Given the description of an element on the screen output the (x, y) to click on. 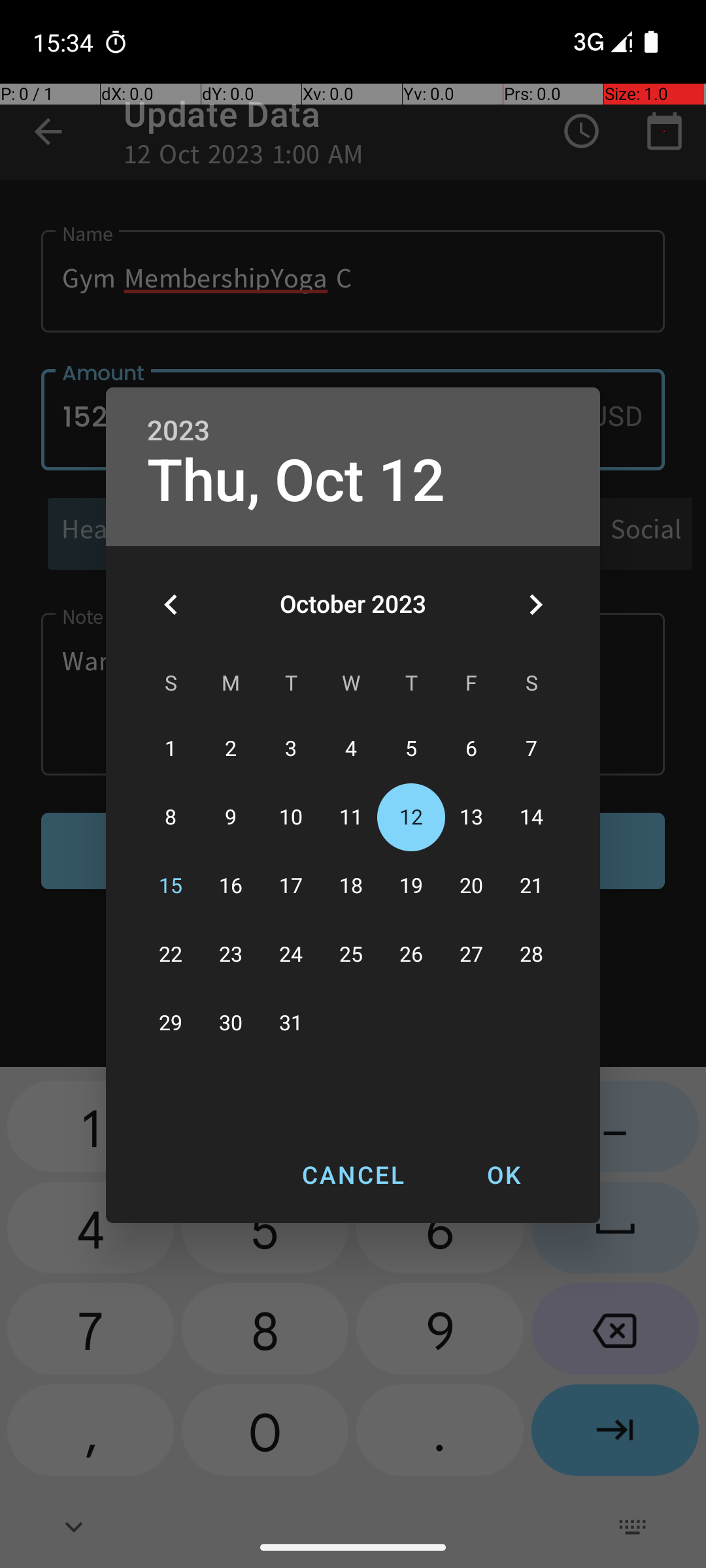
Thu, Oct 12 Element type: android.widget.TextView (296, 480)
